Given the description of an element on the screen output the (x, y) to click on. 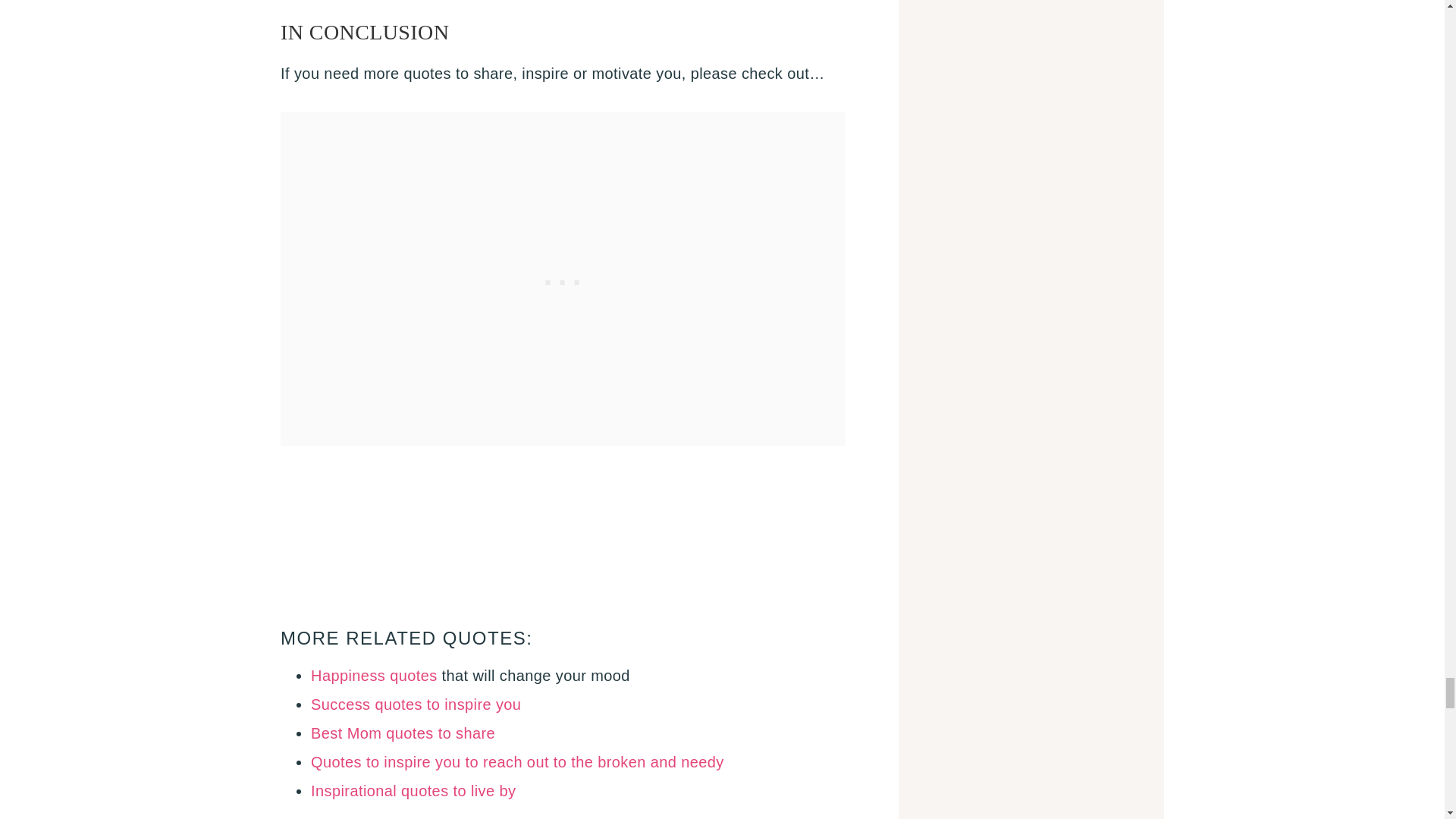
Best Mom quotes to share (403, 733)
Success quotes to inspire you (416, 704)
Happiness quotes (374, 675)
Quotes to inspire you to reach out to the broken and needy (517, 761)
